Given the description of an element on the screen output the (x, y) to click on. 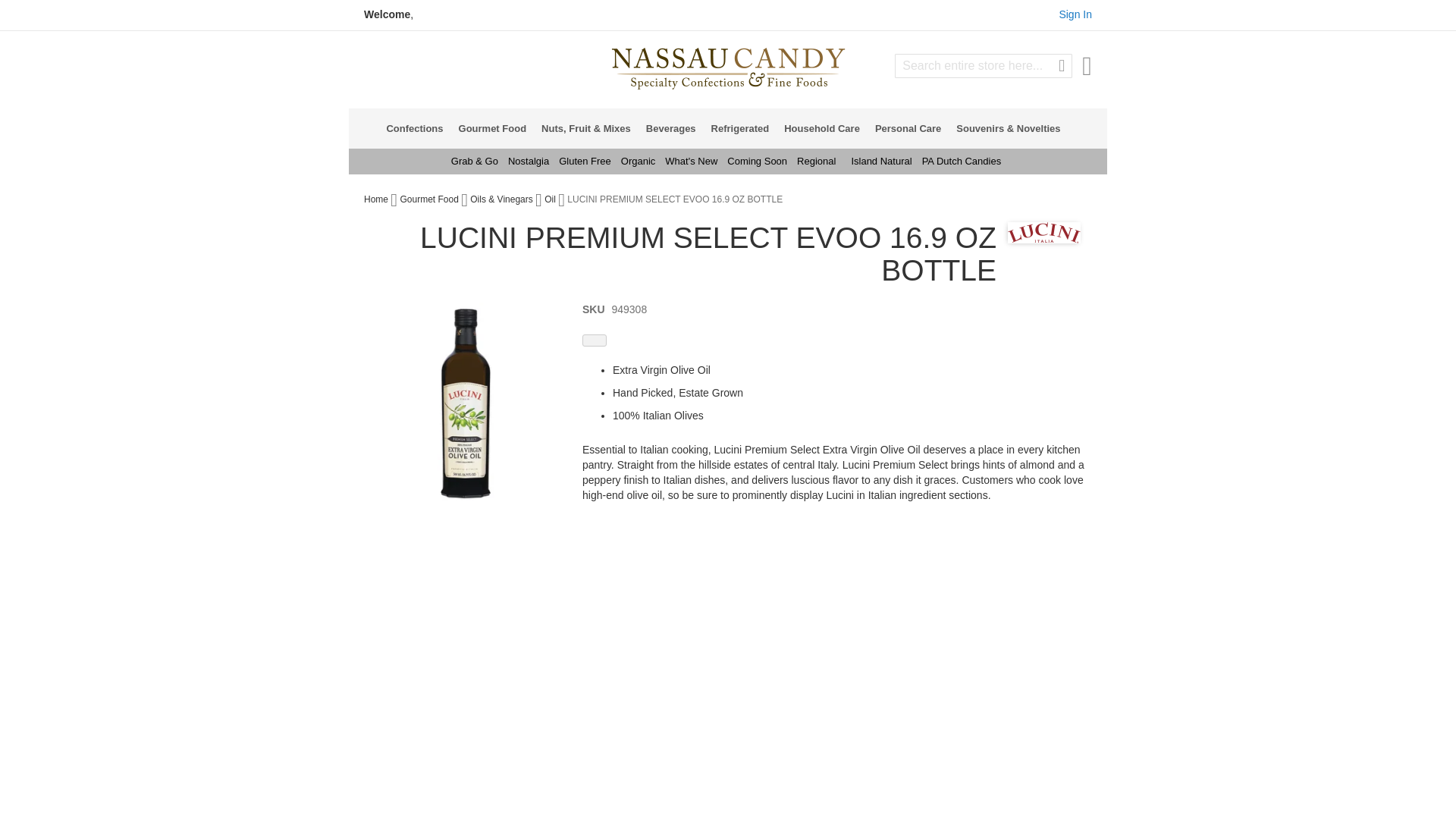
Gourmet Food (496, 128)
Sign In (1075, 14)
Confections (418, 128)
Go to Home Page (377, 199)
